Given the description of an element on the screen output the (x, y) to click on. 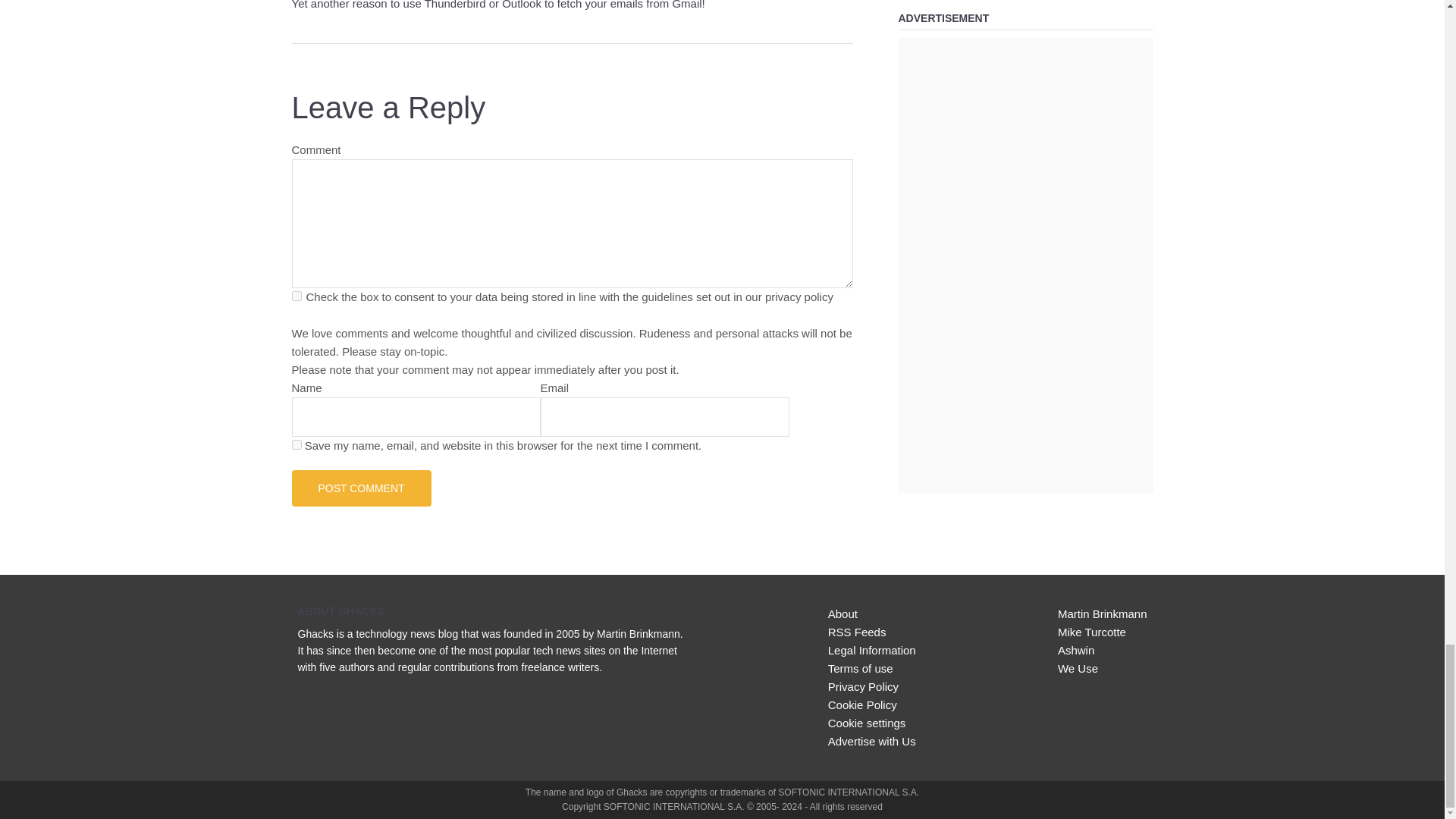
yes (296, 444)
privacy-key (296, 296)
Post Comment (360, 488)
